Given the description of an element on the screen output the (x, y) to click on. 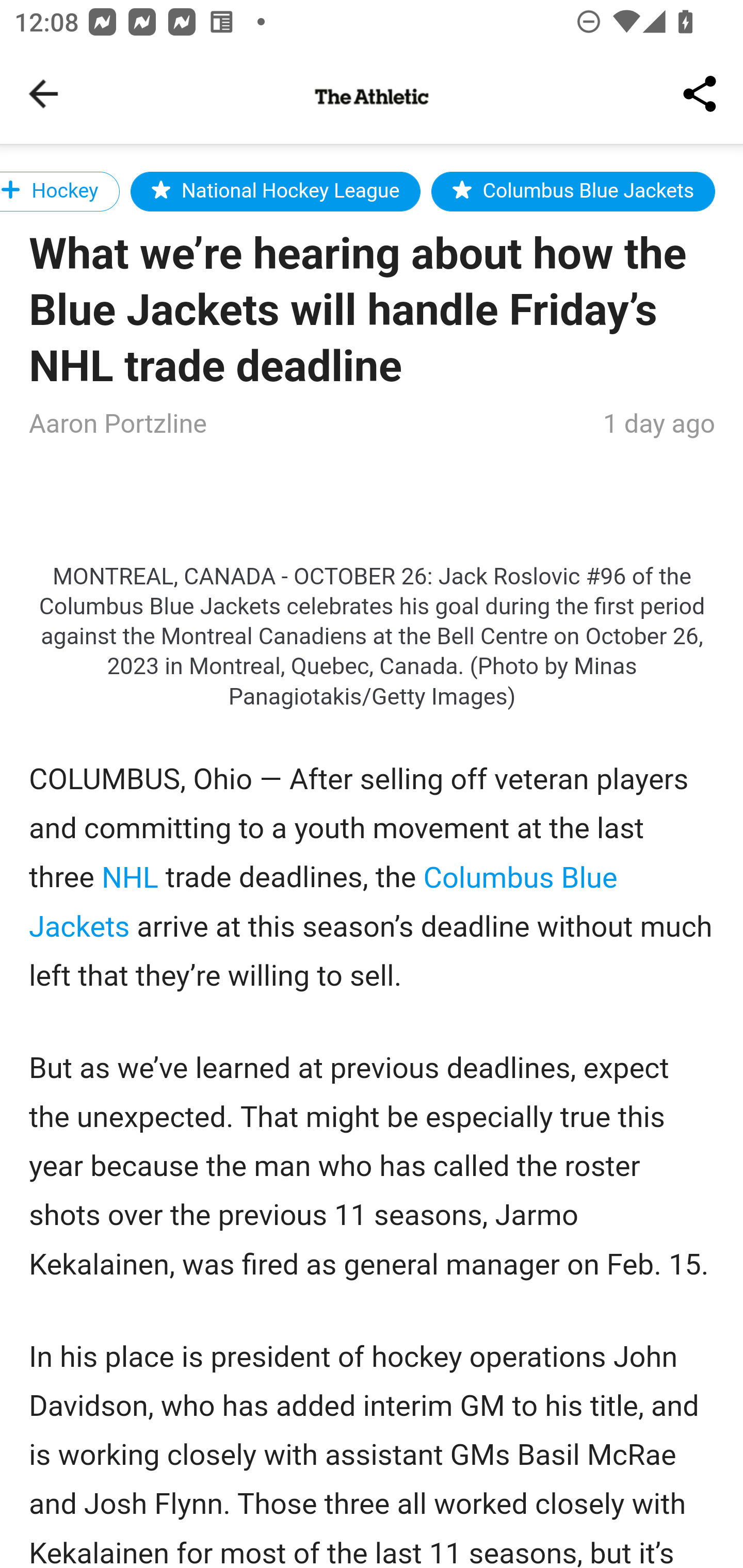
Hockey (60, 191)
National Hockey League (276, 191)
Columbus Blue Jackets (572, 191)
Columbus Blue Jackets (323, 901)
NHL (130, 876)
